Given the description of an element on the screen output the (x, y) to click on. 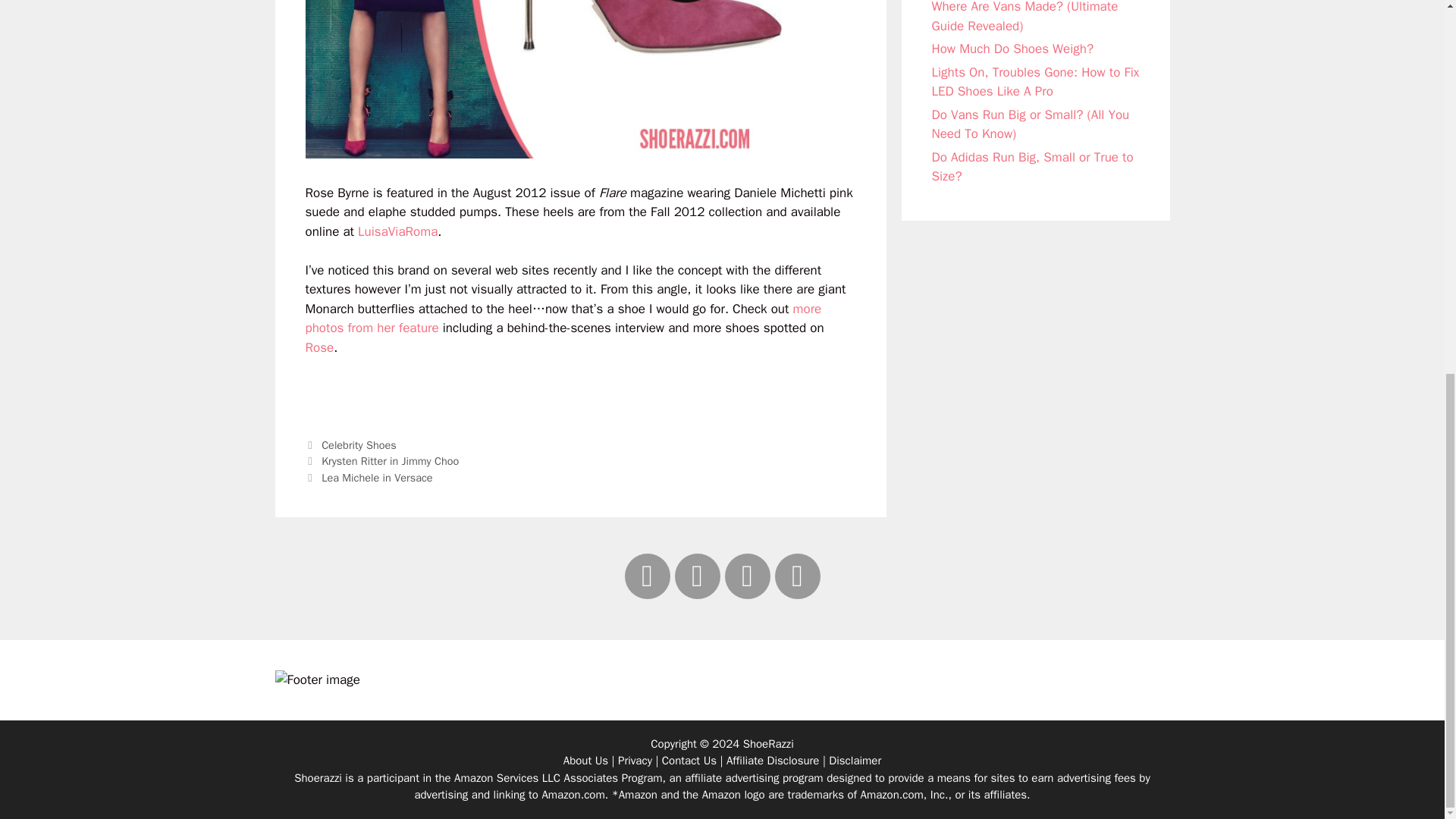
Twitter (697, 575)
Instagram (747, 575)
Pinterest (797, 575)
rose-byrne-heel-daniele-michetti-june-2012 (543, 79)
Facebook (646, 575)
